Given the description of an element on the screen output the (x, y) to click on. 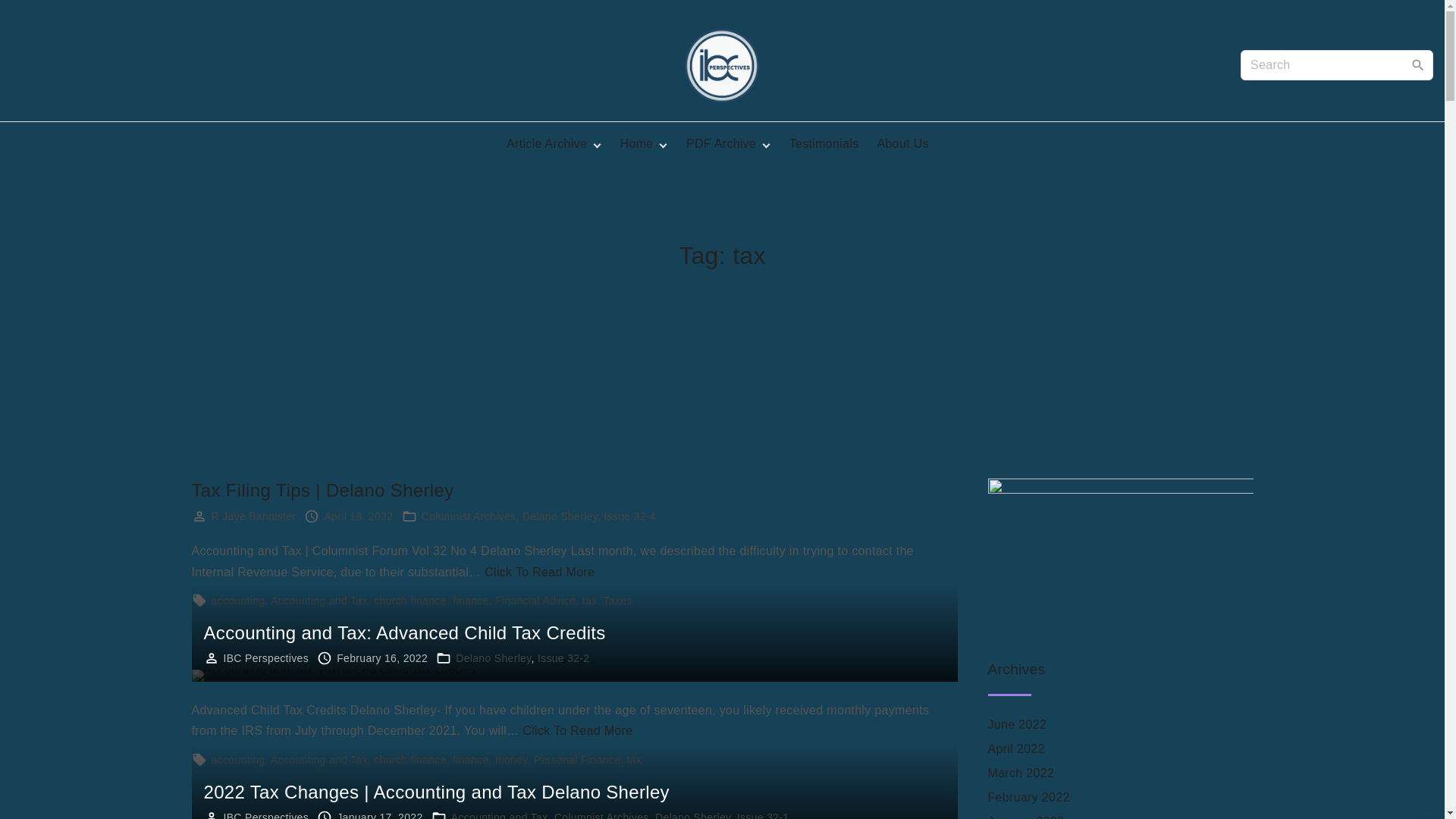
Home (637, 144)
Search (1417, 63)
PDF Archive (721, 144)
Article Archive (547, 144)
Testimonials (824, 144)
Posts by IBC Perspectives (265, 815)
Posts by R Jaye Bannister (253, 516)
Posts by IBC Perspectives (265, 657)
About Us (902, 144)
